Given the description of an element on the screen output the (x, y) to click on. 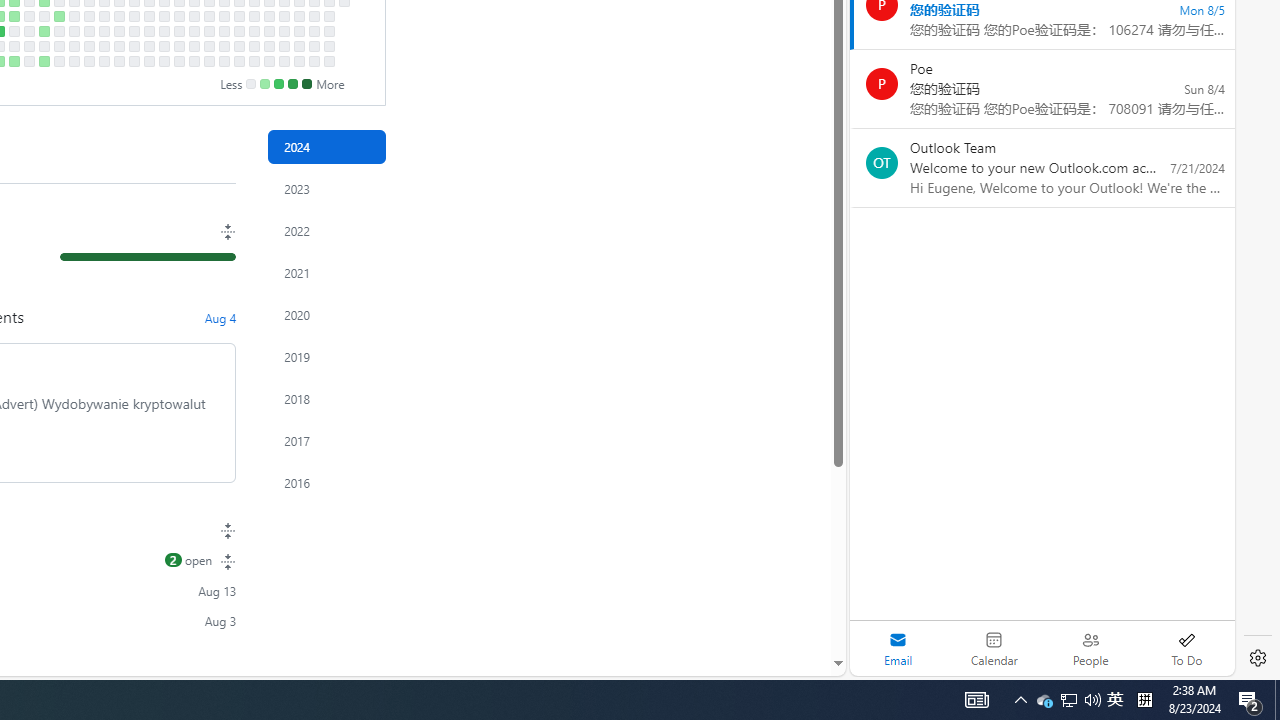
No contributions on November 9th. (223, 61)
No contributions on September 6th. (88, 46)
No contributions on November 20th. (253, 16)
No contributions on November 22nd. (253, 46)
No contributions on October 2nd. (148, 16)
No contributions on September 20th. (118, 46)
No contributions on September 4th. (88, 16)
1 contribution on July 31st. (13, 16)
No contributions on October 19th. (178, 61)
No contributions on September 13th. (104, 46)
